Given the description of an element on the screen output the (x, y) to click on. 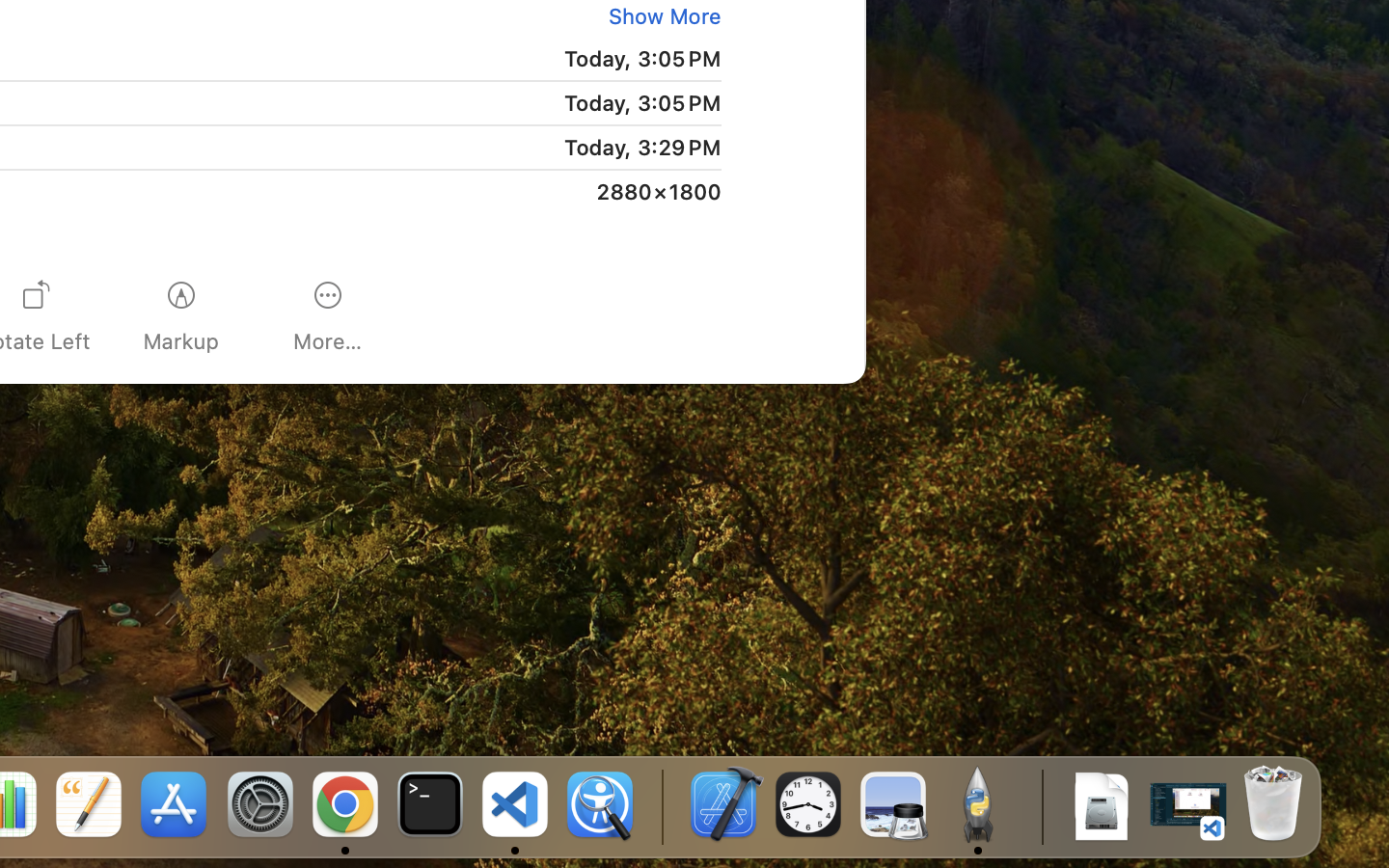
0.4285714328289032 Element type: AXDockItem (660, 805)
0 Element type: AXCheckBox (660, 14)
